Given the description of an element on the screen output the (x, y) to click on. 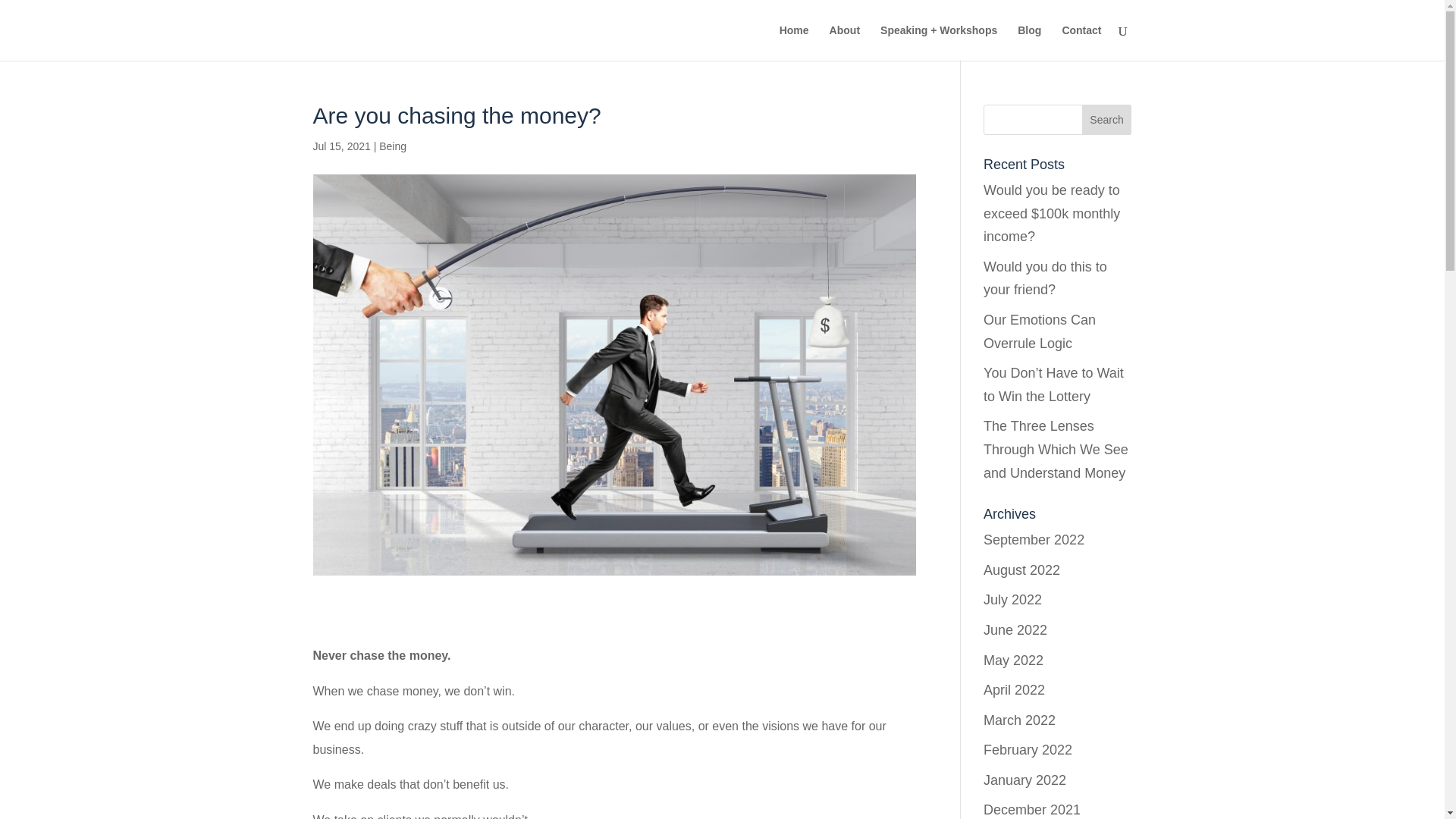
Search (1106, 119)
Being (392, 146)
May 2022 (1013, 659)
February 2022 (1027, 749)
April 2022 (1014, 689)
September 2022 (1034, 539)
Would you do this to your friend? (1045, 278)
Contact (1080, 42)
August 2022 (1021, 570)
March 2022 (1019, 720)
December 2021 (1032, 809)
January 2022 (1024, 780)
The Three Lenses Through Which We See and Understand Money (1056, 448)
Our Emotions Can Overrule Logic (1040, 331)
July 2022 (1013, 599)
